Given the description of an element on the screen output the (x, y) to click on. 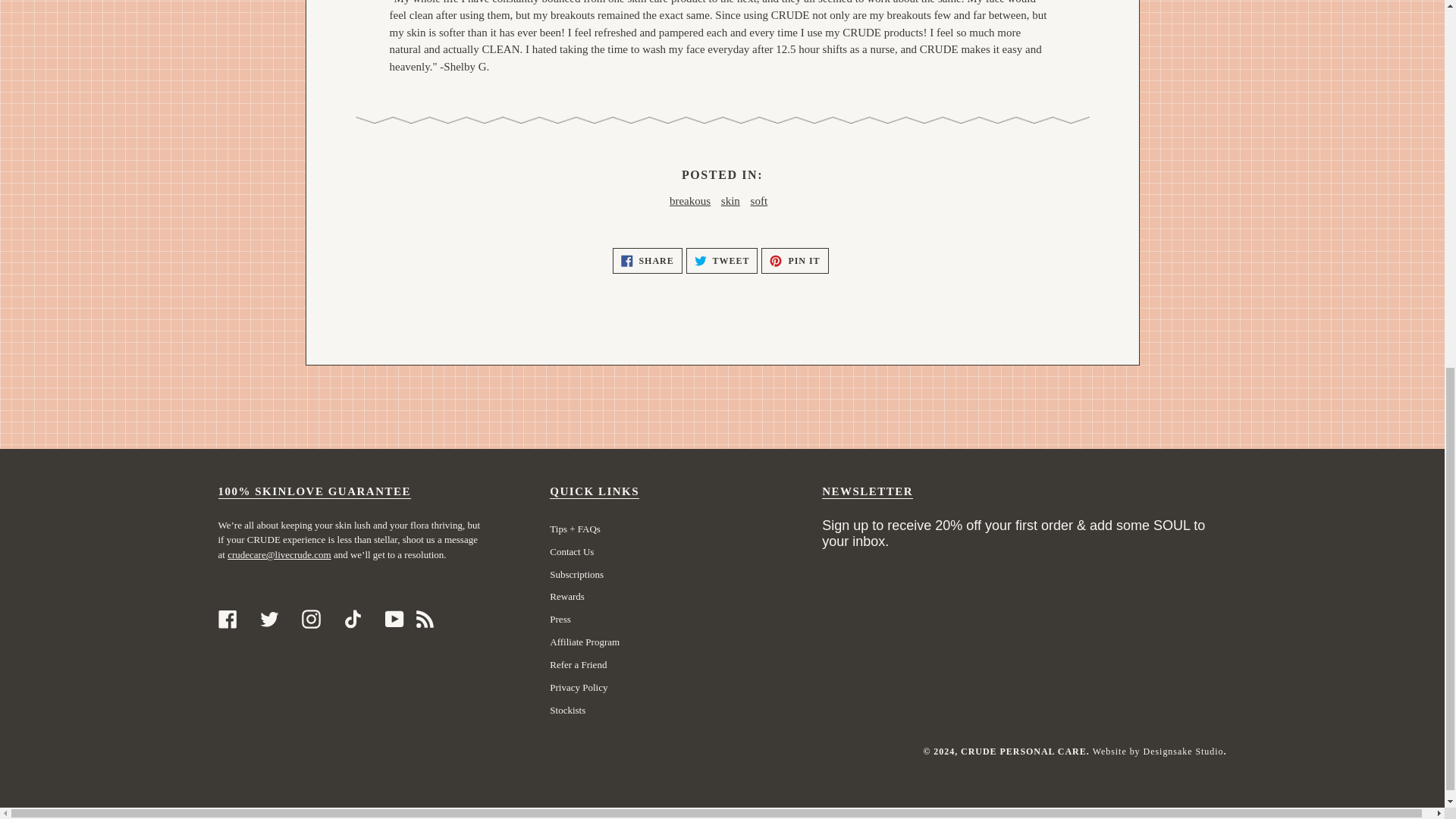
San Francisco Design and Branding (1183, 751)
